Given the description of an element on the screen output the (x, y) to click on. 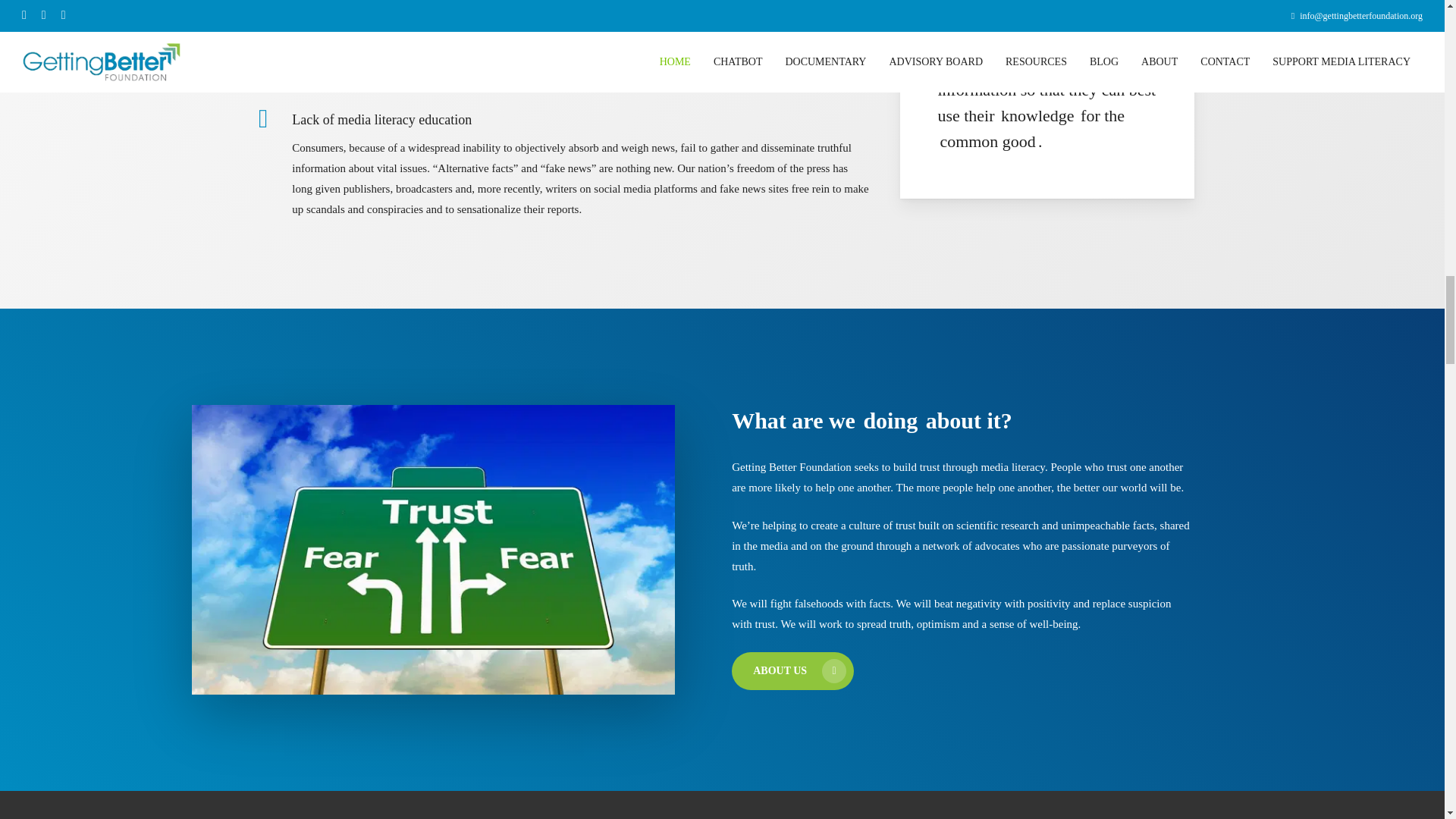
ABOUT US (792, 670)
